Given the description of an element on the screen output the (x, y) to click on. 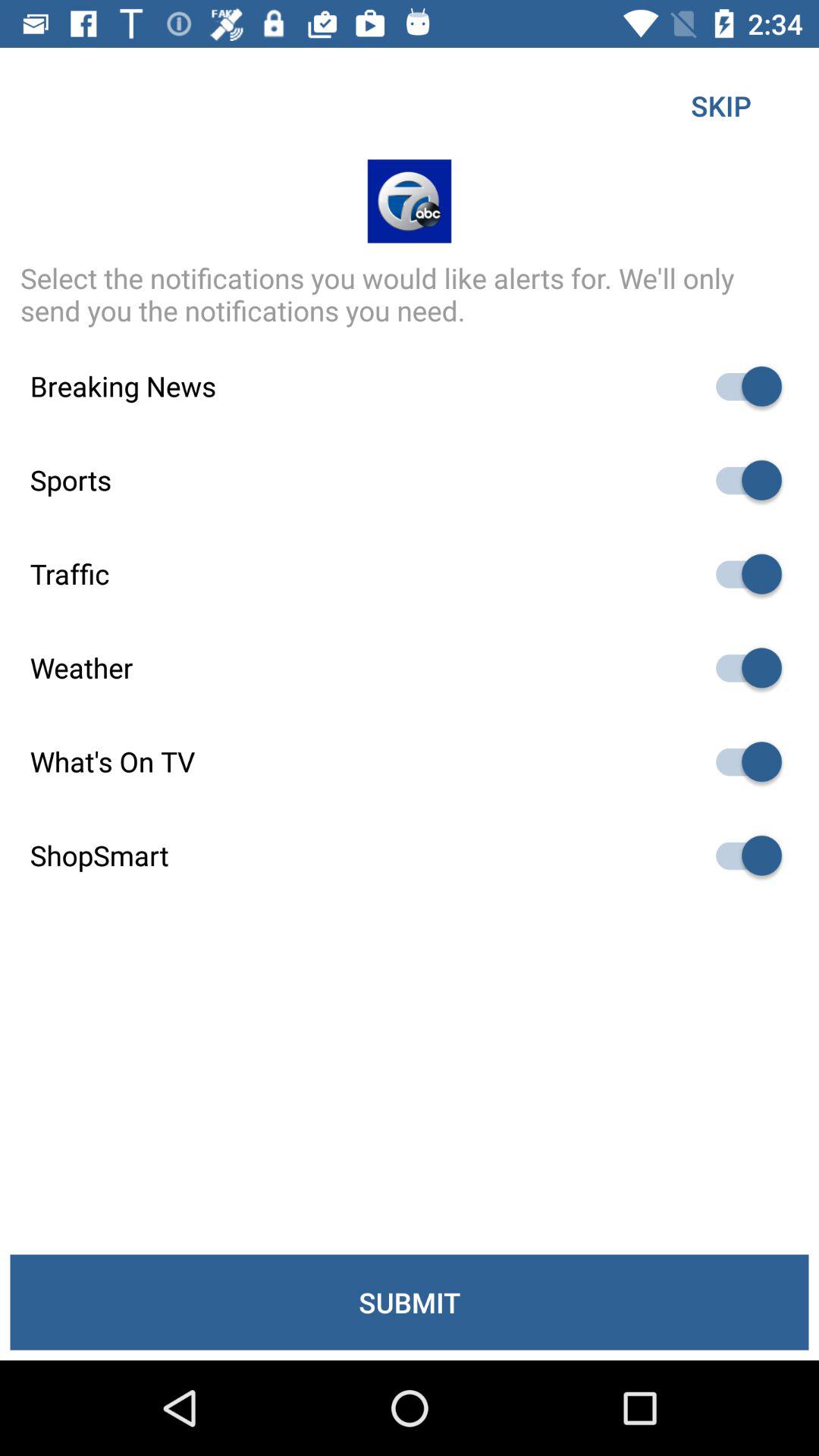
toggle traffic alerts (741, 574)
